Given the description of an element on the screen output the (x, y) to click on. 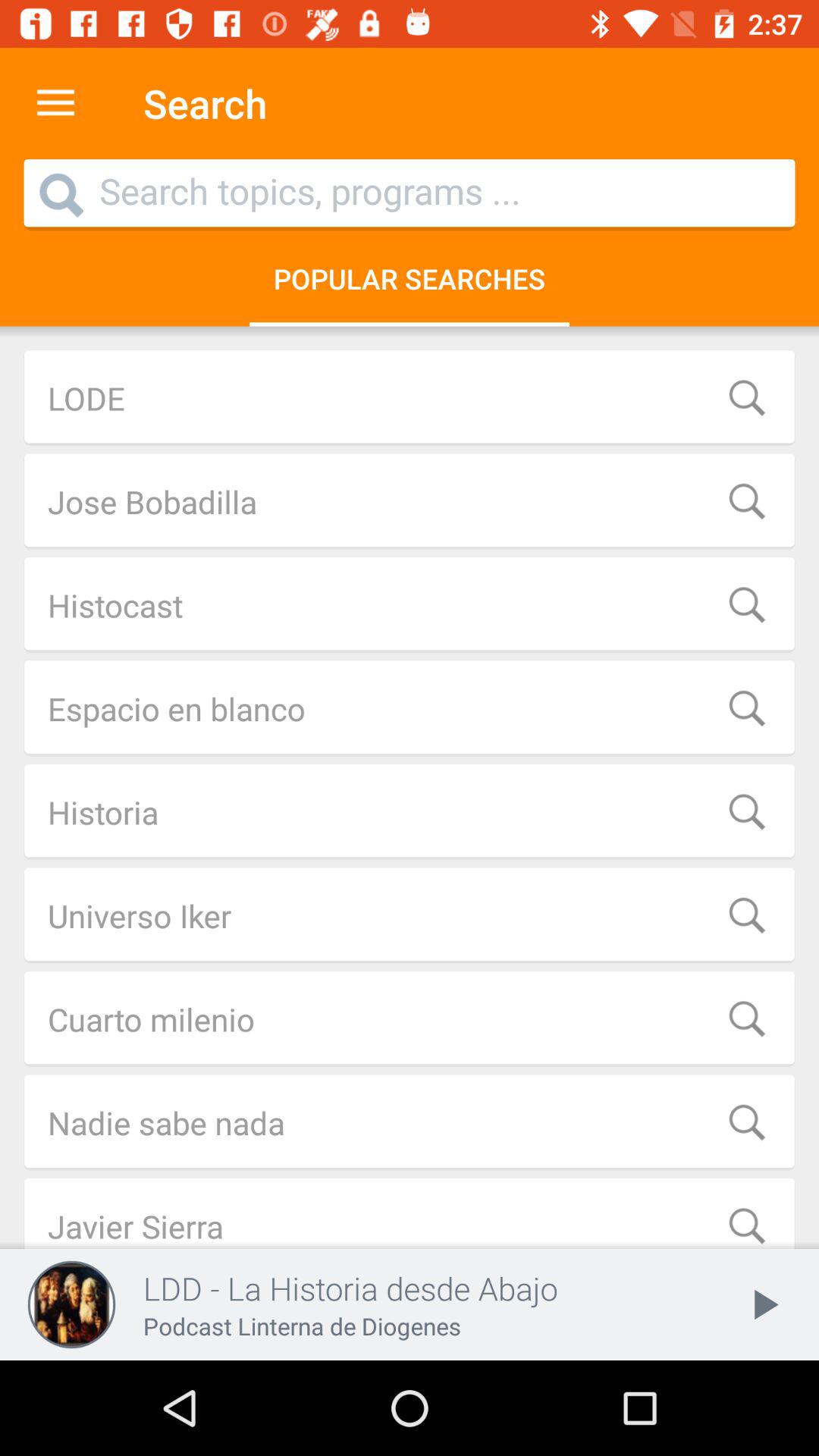
turn off item above the nadie sabe nada item (409, 1018)
